Given the description of an element on the screen output the (x, y) to click on. 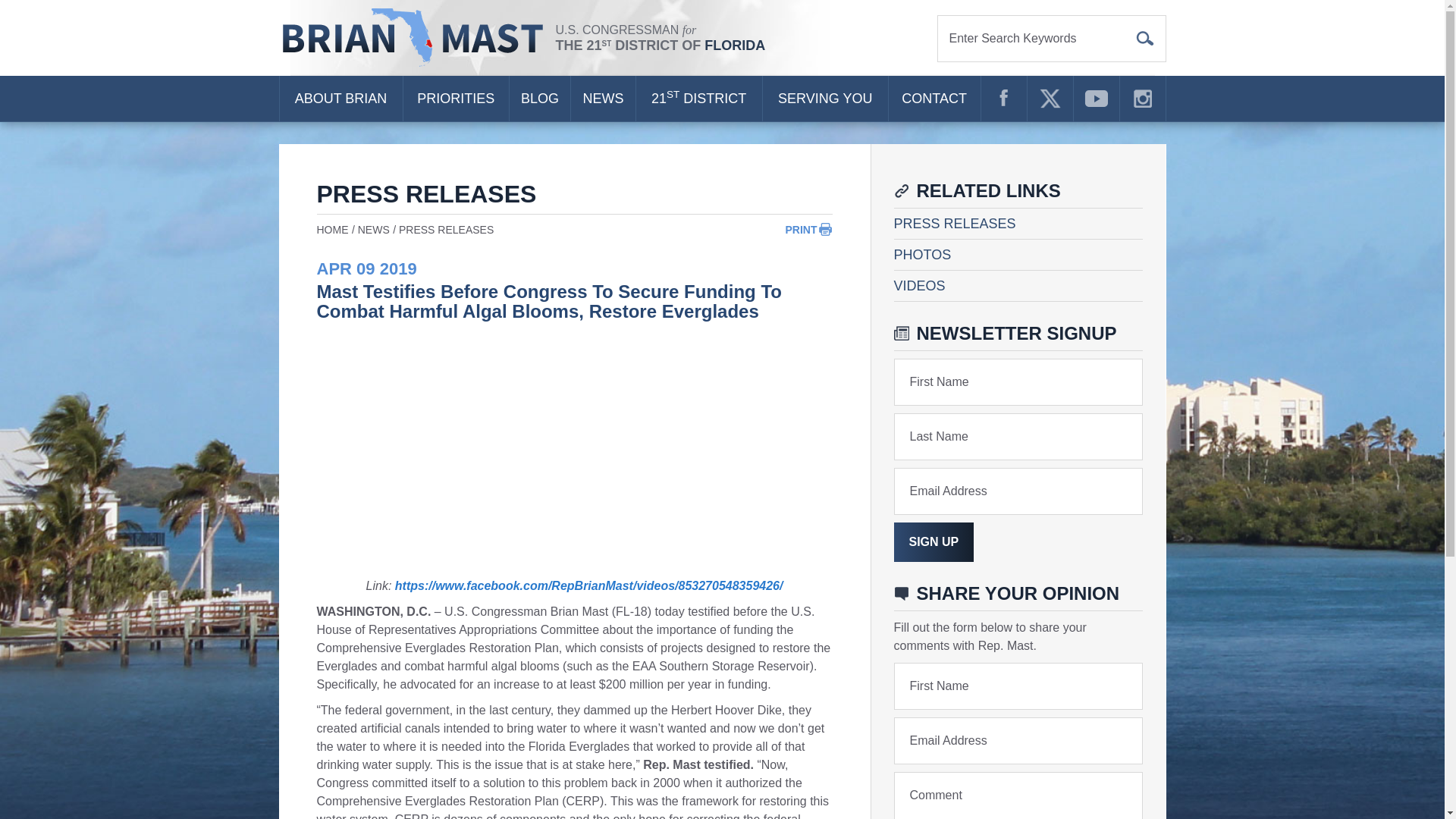
BLOG (539, 98)
CONTACT (933, 98)
NEWS (602, 98)
ABOUT BRIAN (340, 98)
PRIORITIES (455, 98)
SERVING YOU (825, 98)
Congressman Brian Mast (417, 38)
Go (1144, 38)
21ST DISTRICT (698, 98)
